Given the description of an element on the screen output the (x, y) to click on. 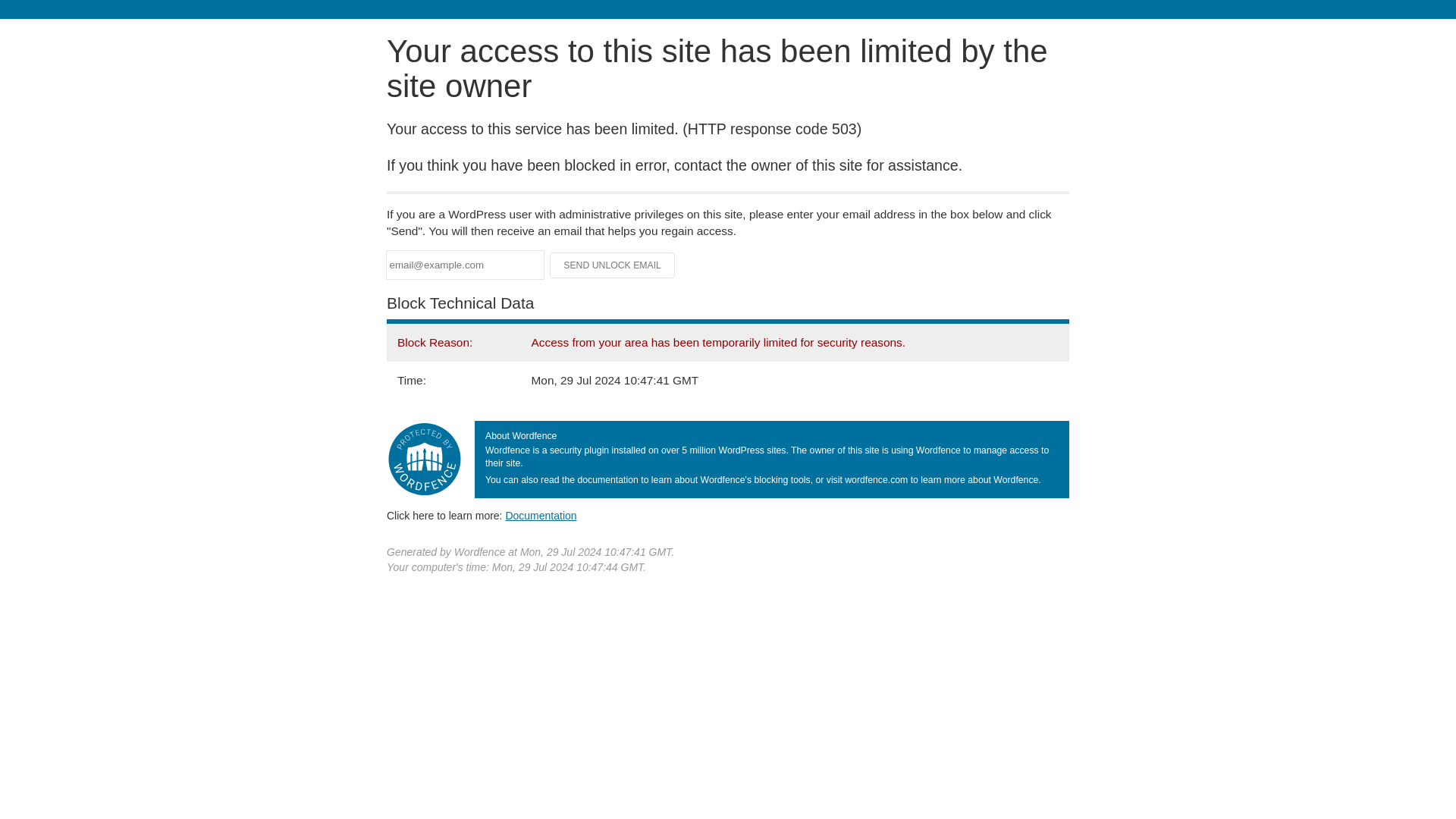
Send Unlock Email (612, 265)
Send Unlock Email (612, 265)
Documentation (540, 515)
